Given the description of an element on the screen output the (x, y) to click on. 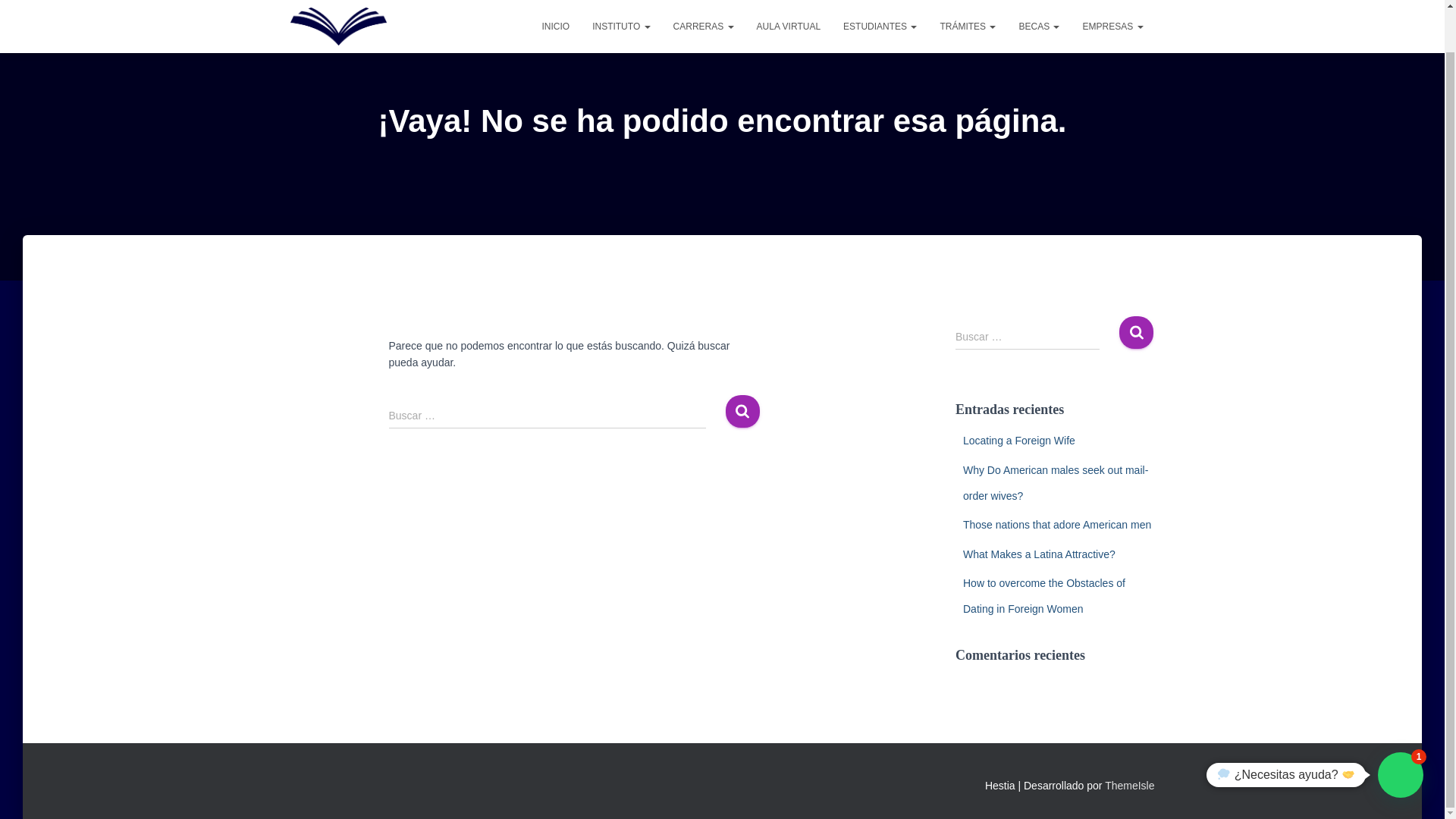
Buscar (741, 410)
Buscar (741, 410)
Buscar (1136, 332)
Locating a Foreign Wife (1018, 440)
INICIO (554, 0)
Those nations that adore American men (1056, 524)
BECAS (1038, 0)
Buscar (1136, 332)
Inicio (554, 0)
